Given the description of an element on the screen output the (x, y) to click on. 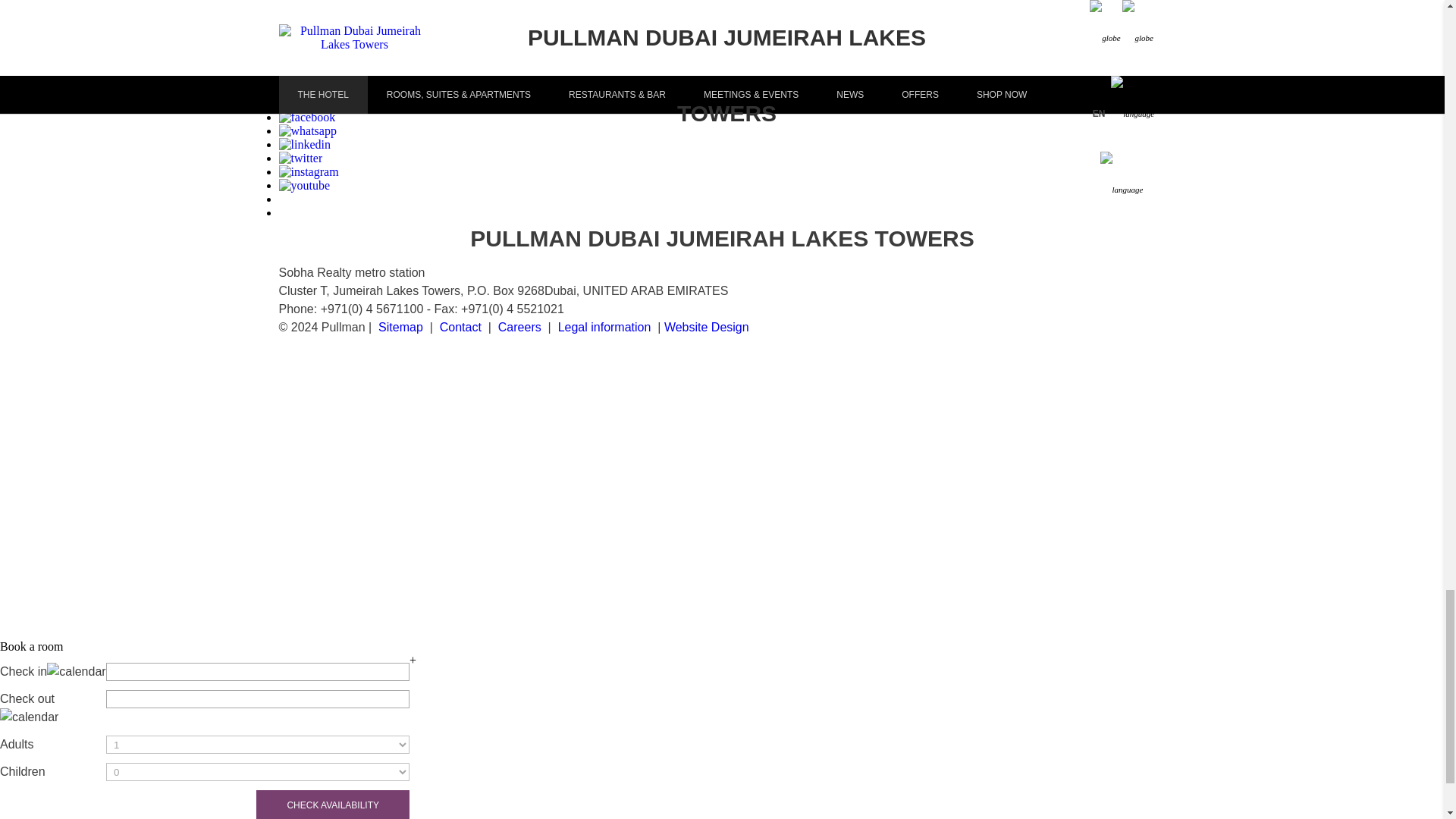
Check Availability (332, 804)
